Given the description of an element on the screen output the (x, y) to click on. 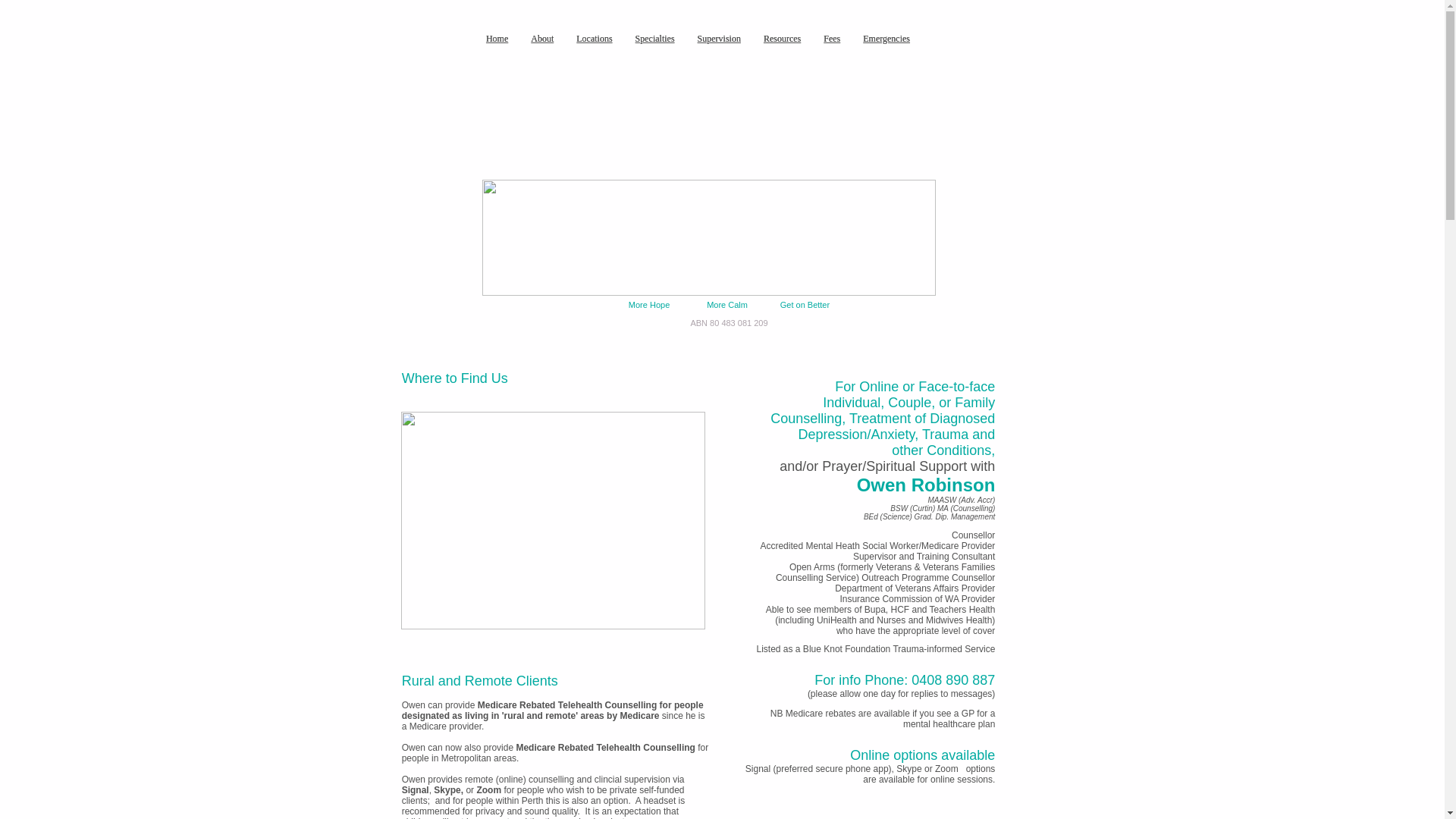
Emergencies Element type: text (886, 38)
Fees Element type: text (831, 38)
Locations Element type: text (593, 38)
Resources Element type: text (781, 38)
Home Element type: text (497, 38)
Supervision Element type: text (718, 38)
Specialties Element type: text (654, 38)
About Element type: text (541, 38)
